Given the description of an element on the screen output the (x, y) to click on. 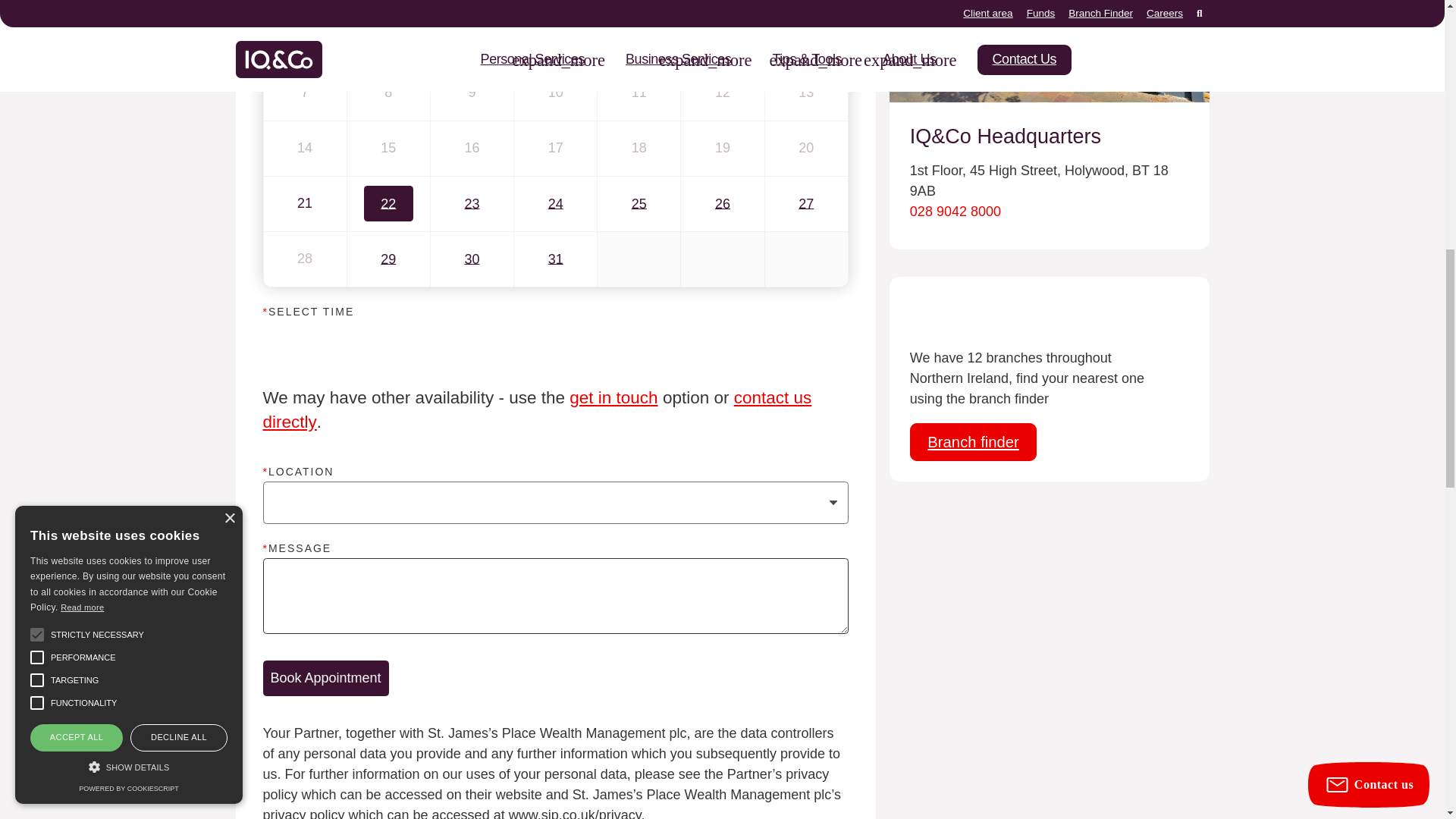
Saturday (806, 1)
Tuesday (471, 1)
Thursday (638, 1)
Book Appointment (325, 678)
Sunday (304, 1)
Friday (721, 1)
Monday (388, 1)
Wednesday (555, 1)
